Given the description of an element on the screen output the (x, y) to click on. 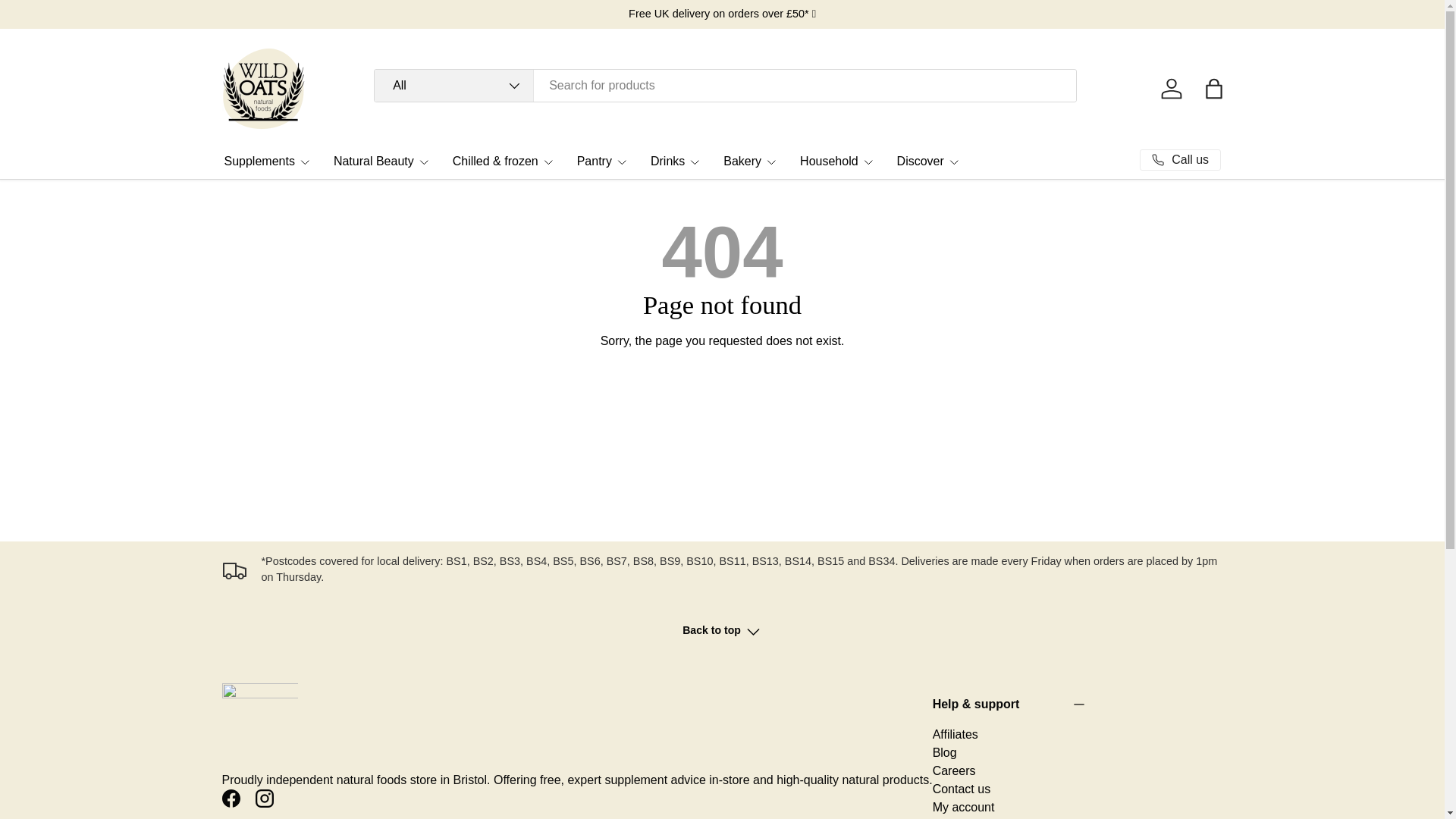
Skip to content (64, 21)
Bag (1213, 88)
Supplements (267, 160)
Log in (1171, 88)
WILD OATS on Instagram (264, 798)
All (454, 85)
WILD OATS on Facebook (230, 798)
